Given the description of an element on the screen output the (x, y) to click on. 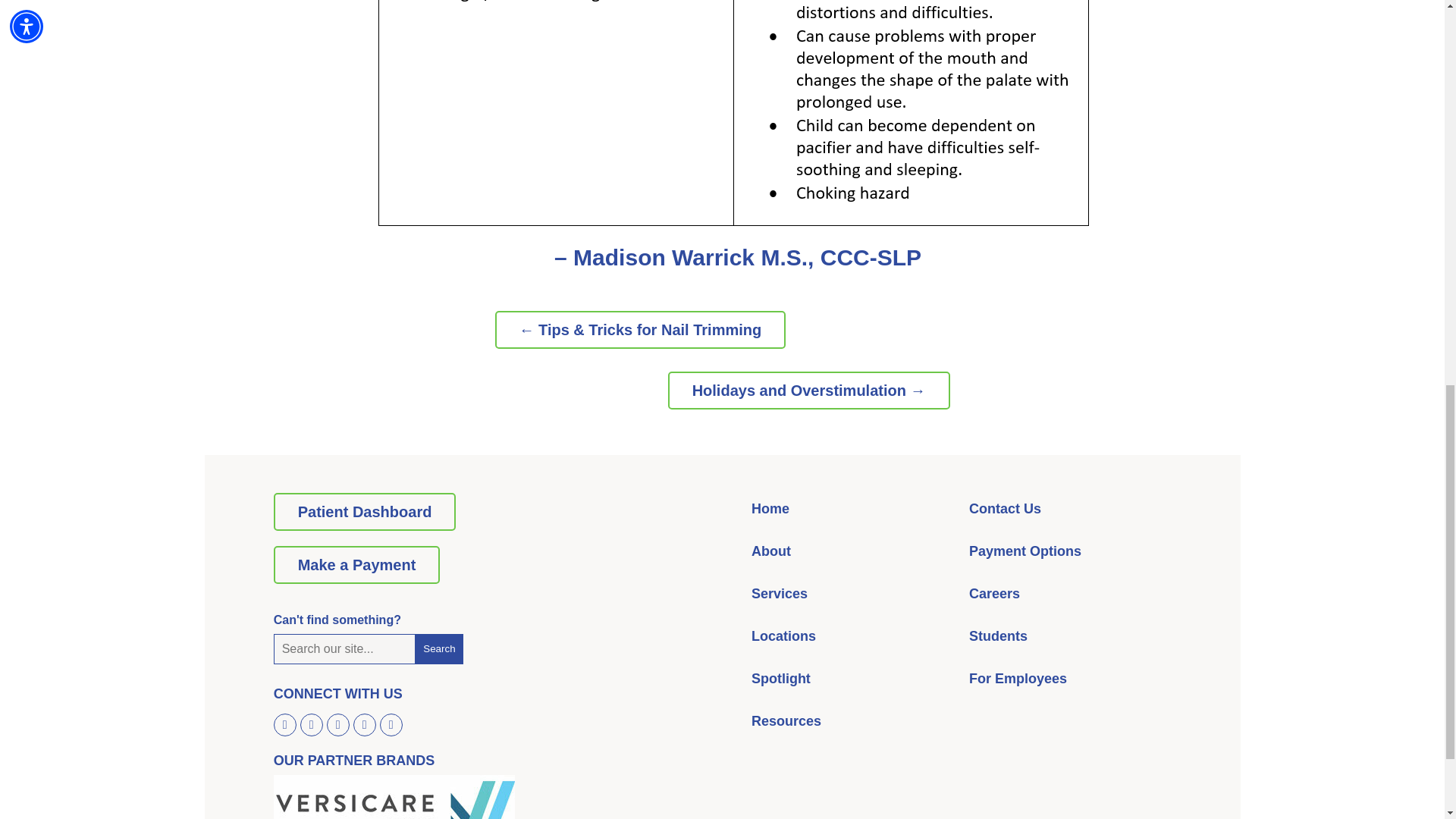
Search (438, 648)
Search (438, 648)
Facebook (285, 722)
Instagram (311, 722)
Patient Dashboard (365, 511)
Search (438, 648)
Search our site (344, 648)
Pinterest (337, 722)
Home (770, 508)
Youtube (391, 722)
Make a Payment (357, 564)
Twitter (364, 722)
